Given the description of an element on the screen output the (x, y) to click on. 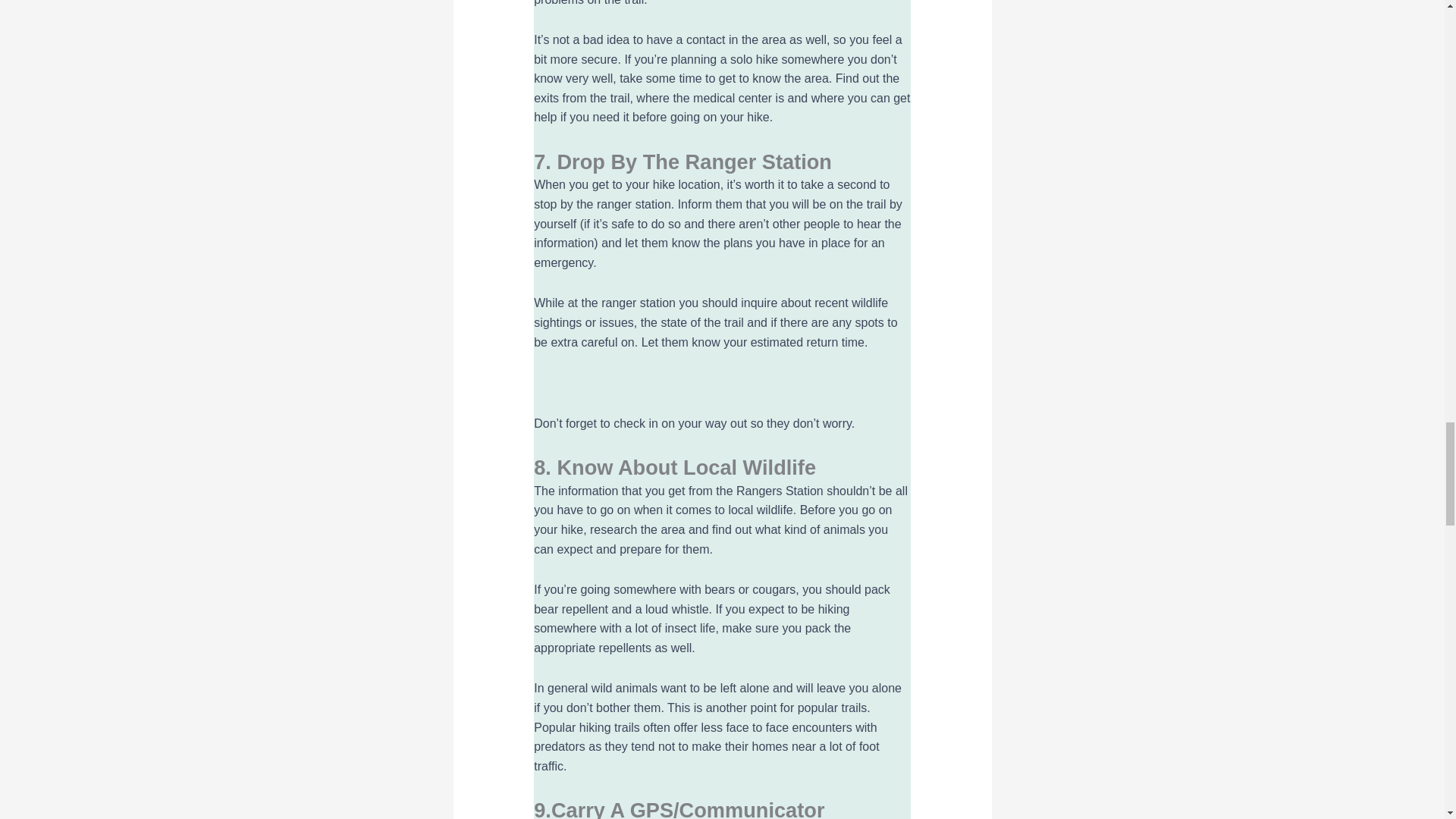
Advertisement (722, 383)
